Given the description of an element on the screen output the (x, y) to click on. 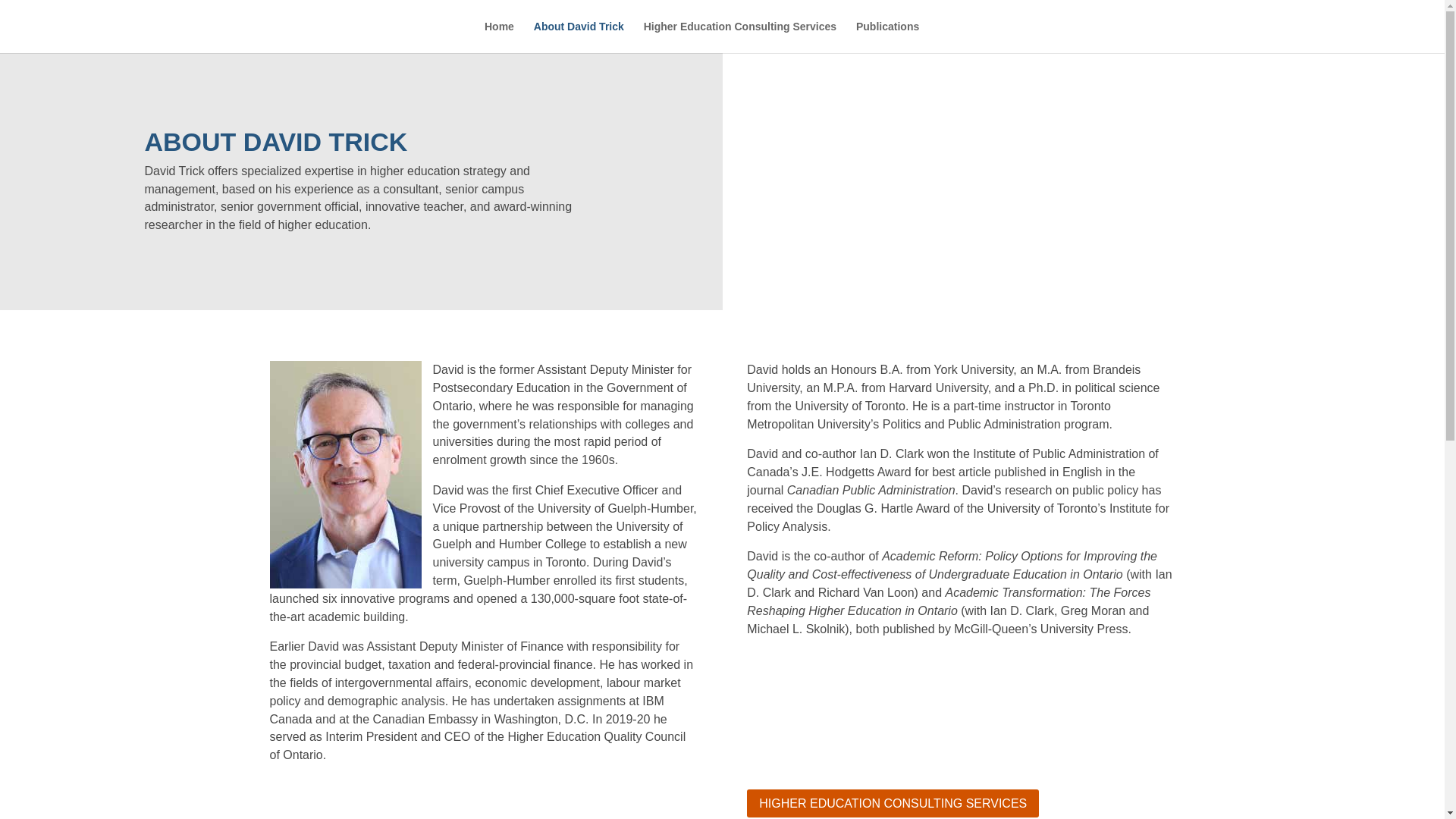
HIGHER EDUCATION CONSULTING SERVICES (892, 803)
About David Trick (579, 37)
Higher Education Consulting Services (739, 37)
Publications (887, 37)
Home (498, 37)
